Given the description of an element on the screen output the (x, y) to click on. 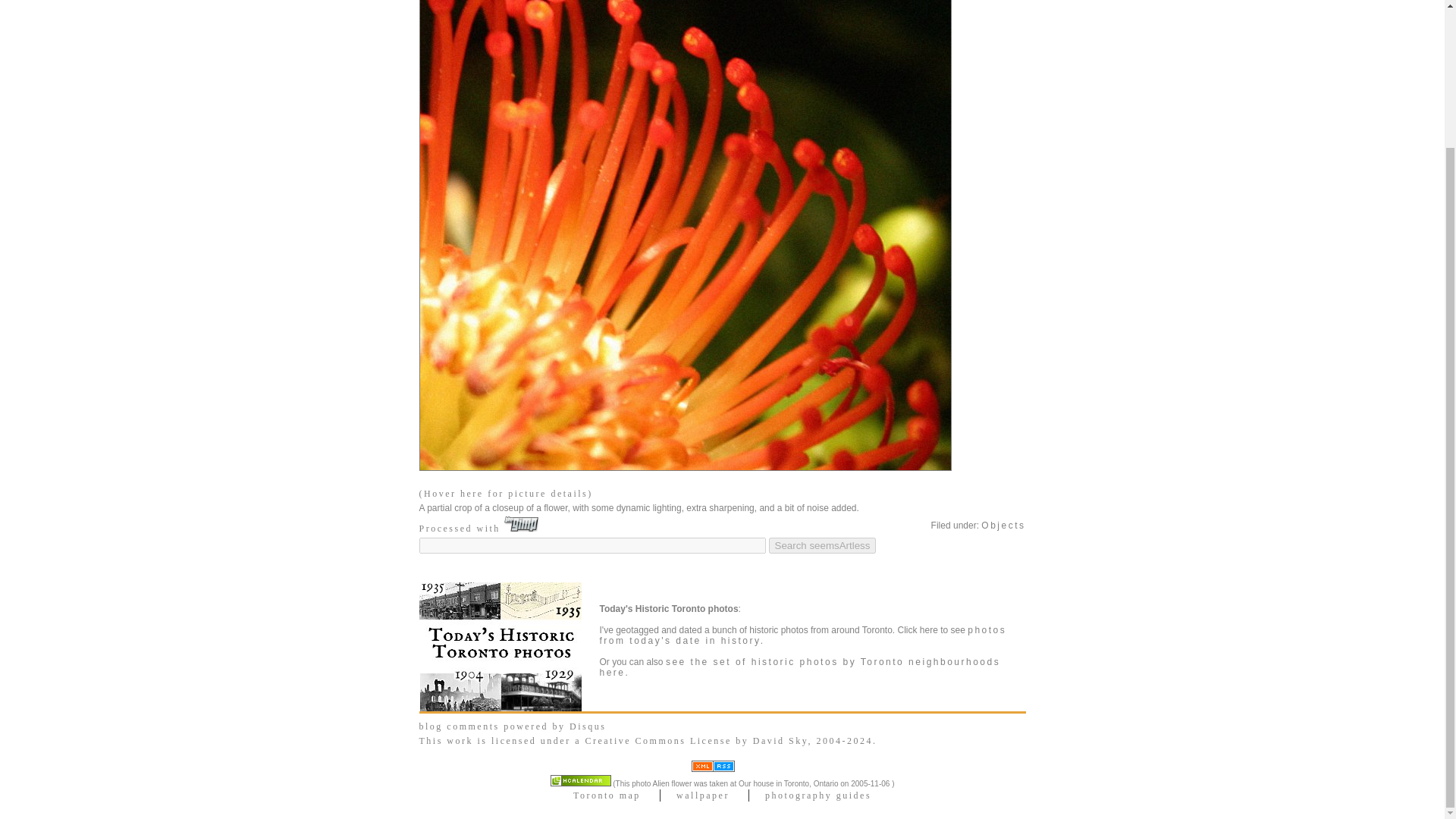
Processed with (478, 528)
Search seemsArtless (822, 545)
Toronto map (606, 795)
Search seemsArtless (822, 545)
photography guides (817, 795)
wallpaper (703, 795)
blog comments powered by Disqus (512, 726)
This page includes microformat data (580, 780)
photos from today's date in history. (802, 635)
Objects (1003, 525)
